Given the description of an element on the screen output the (x, y) to click on. 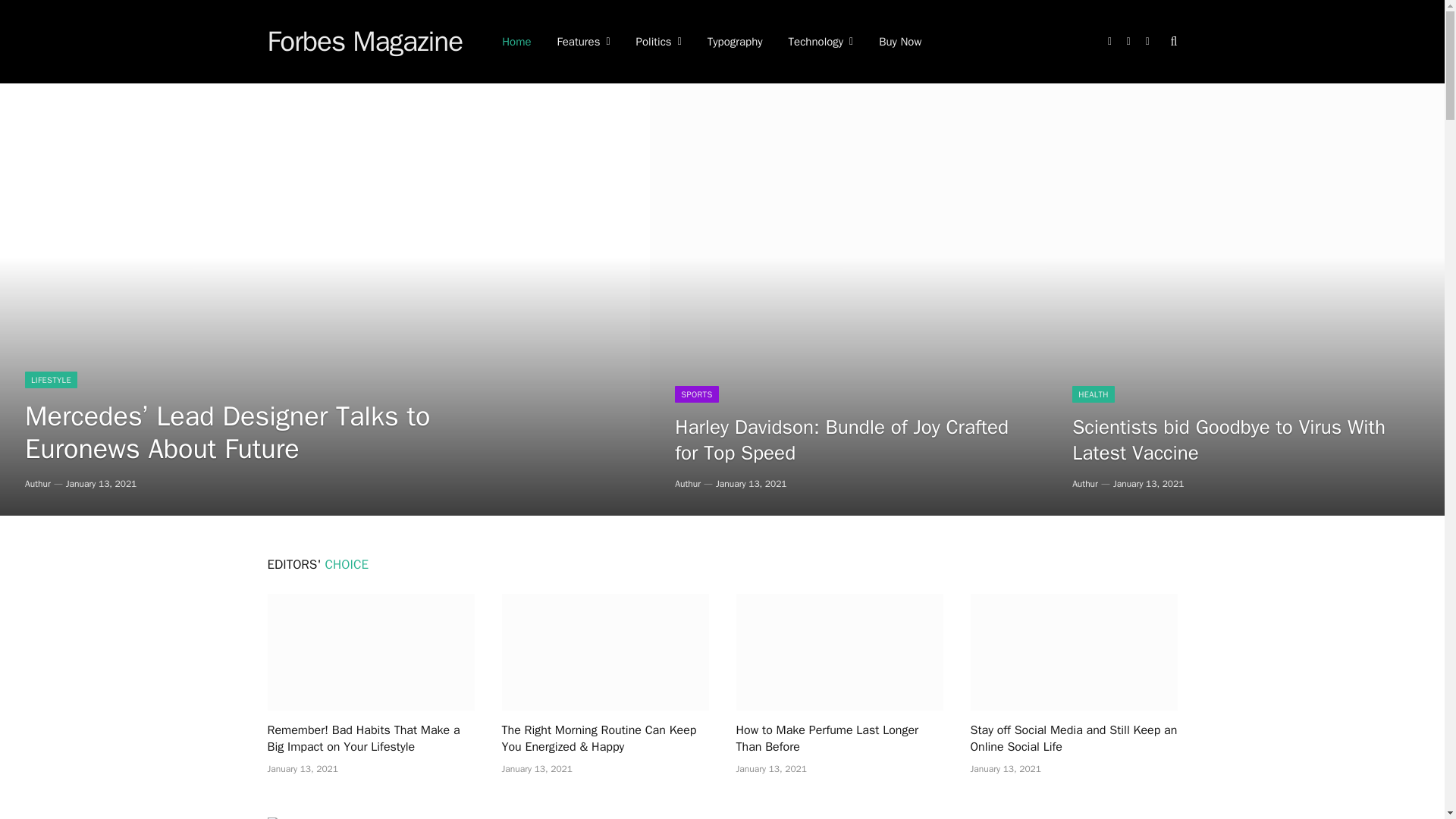
Forbes Magazine (364, 41)
Features (583, 41)
Forbes Magazine (364, 41)
Technology (821, 41)
Typography (735, 41)
